Given the description of an element on the screen output the (x, y) to click on. 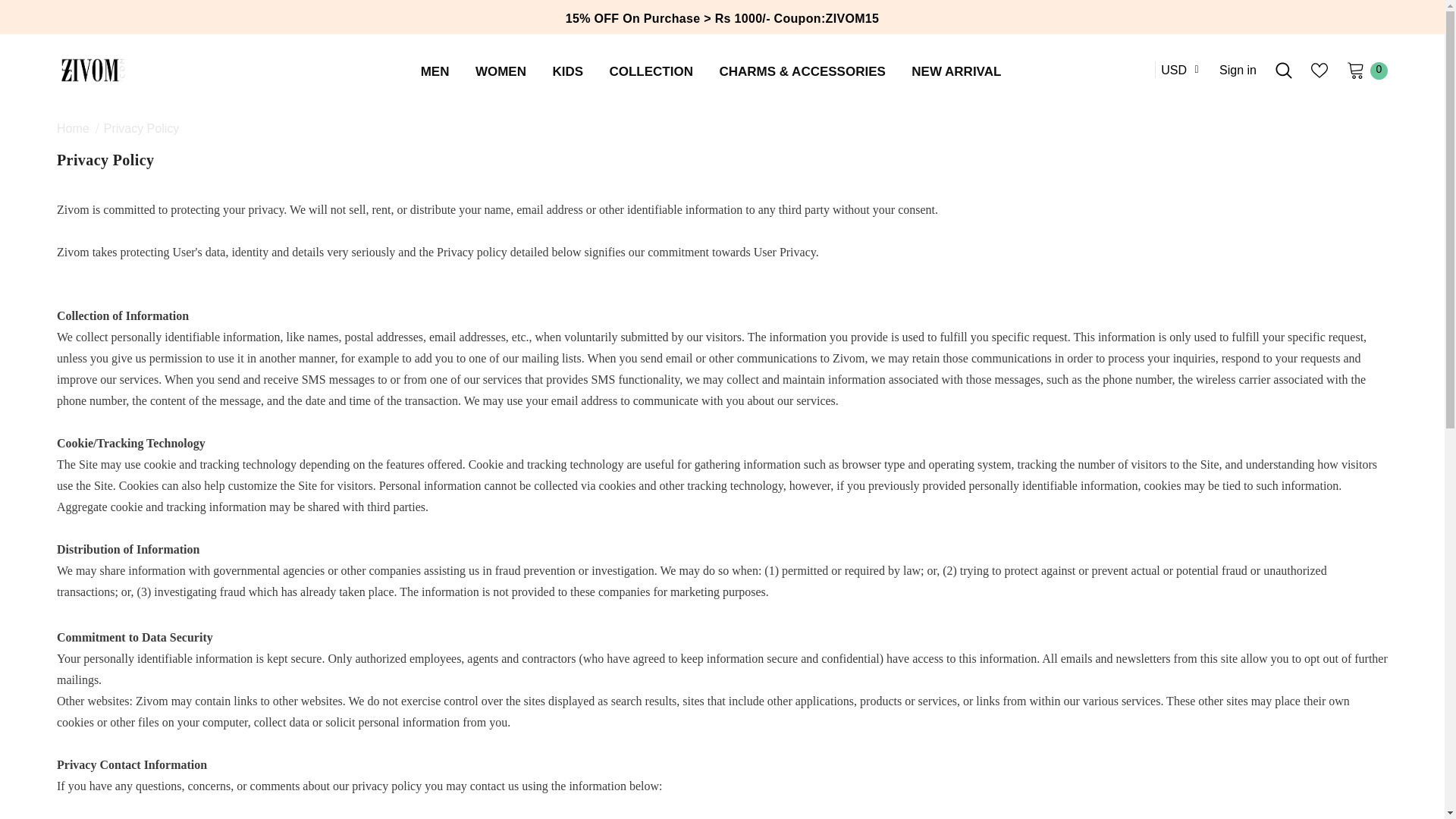
COLLECTION (650, 72)
Sign in (1238, 69)
WOMEN (500, 72)
NEW ARRIVAL (956, 72)
Search Icon (1283, 70)
Logo (183, 69)
